Given the description of an element on the screen output the (x, y) to click on. 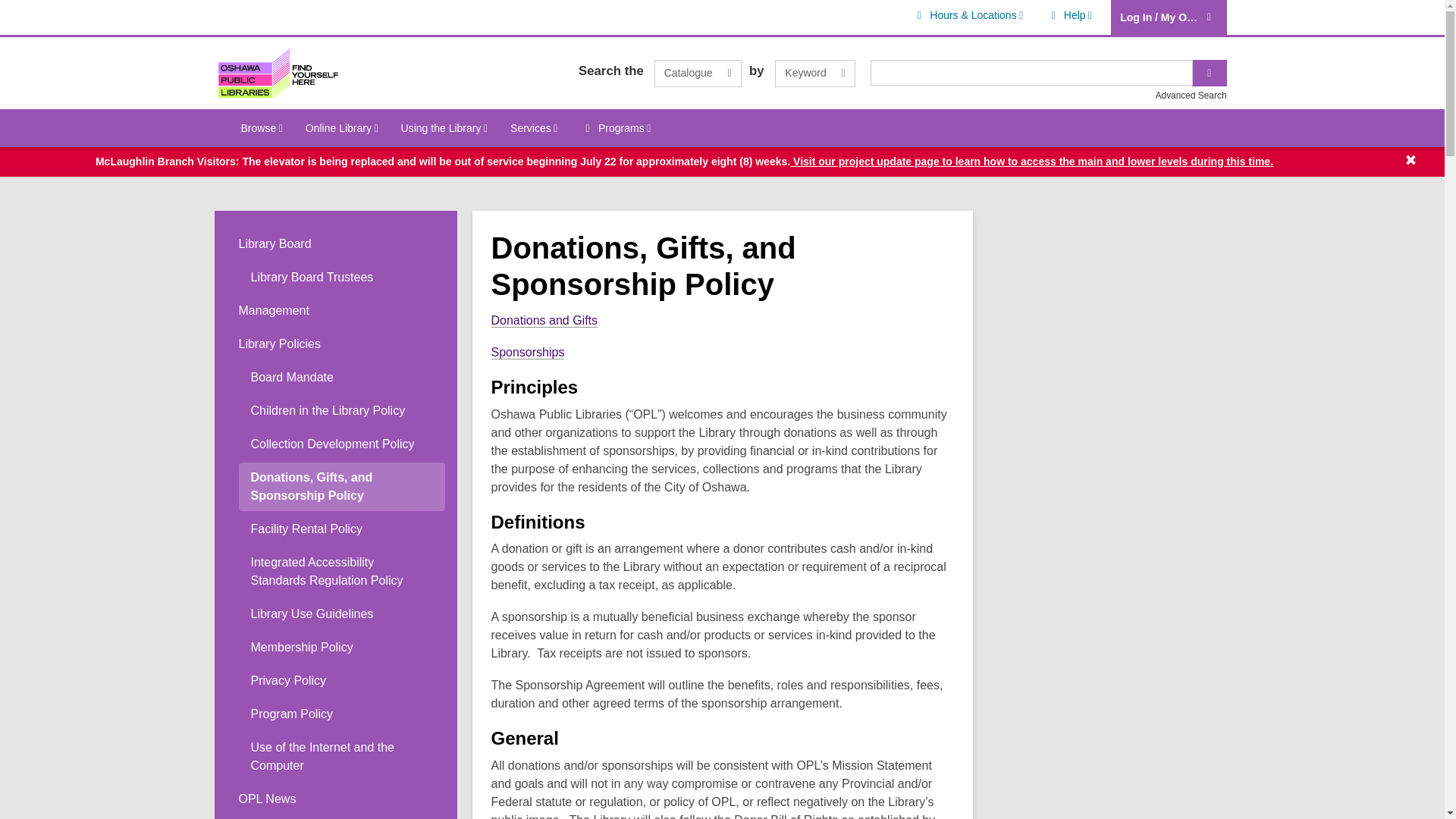
Keyword (815, 72)
Catalogue (697, 72)
